Given the description of an element on the screen output the (x, y) to click on. 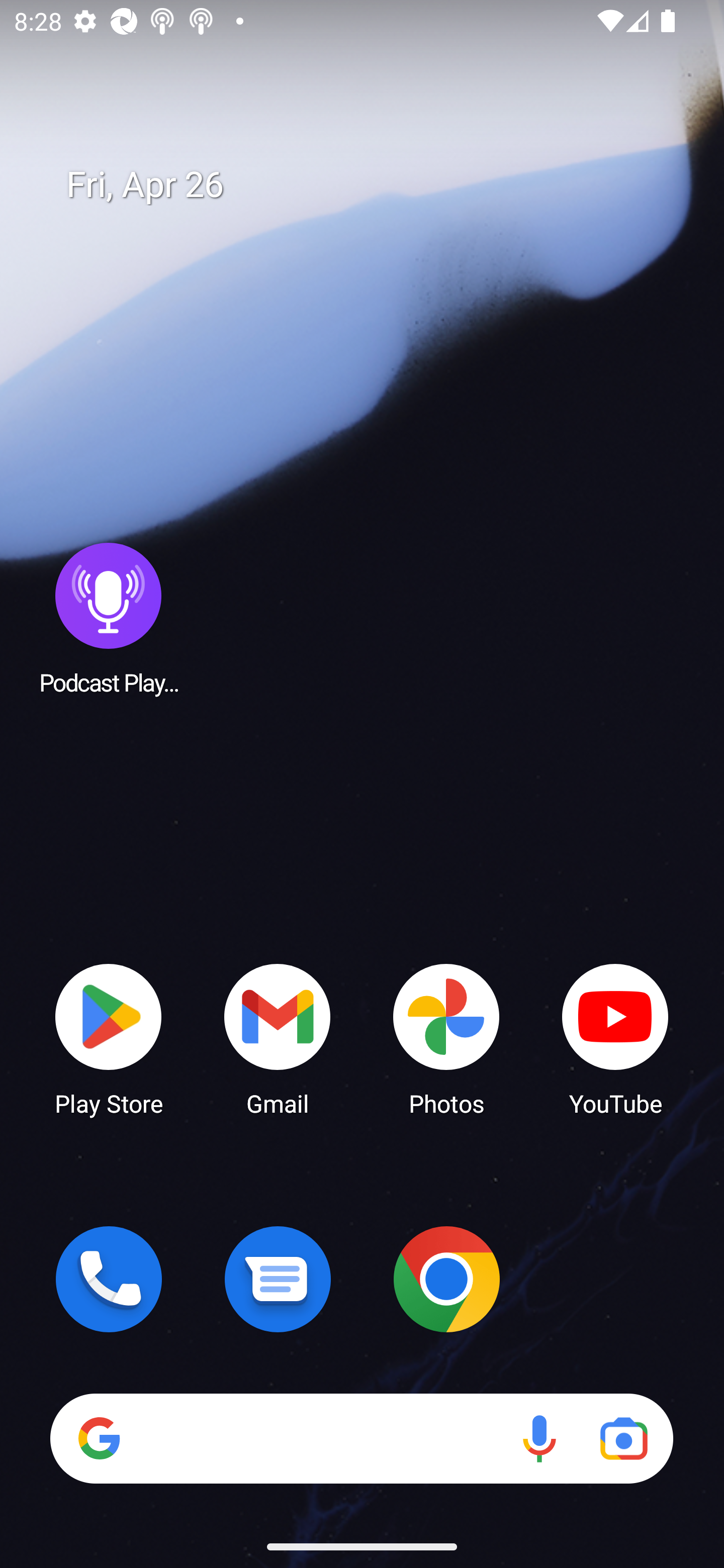
Fri, Apr 26 (375, 184)
Podcast Player (108, 617)
Play Store (108, 1038)
Gmail (277, 1038)
Photos (445, 1038)
YouTube (615, 1038)
Phone (108, 1279)
Messages (277, 1279)
Chrome (446, 1279)
Search Voice search Google Lens (361, 1438)
Voice search (539, 1438)
Google Lens (623, 1438)
